Given the description of an element on the screen output the (x, y) to click on. 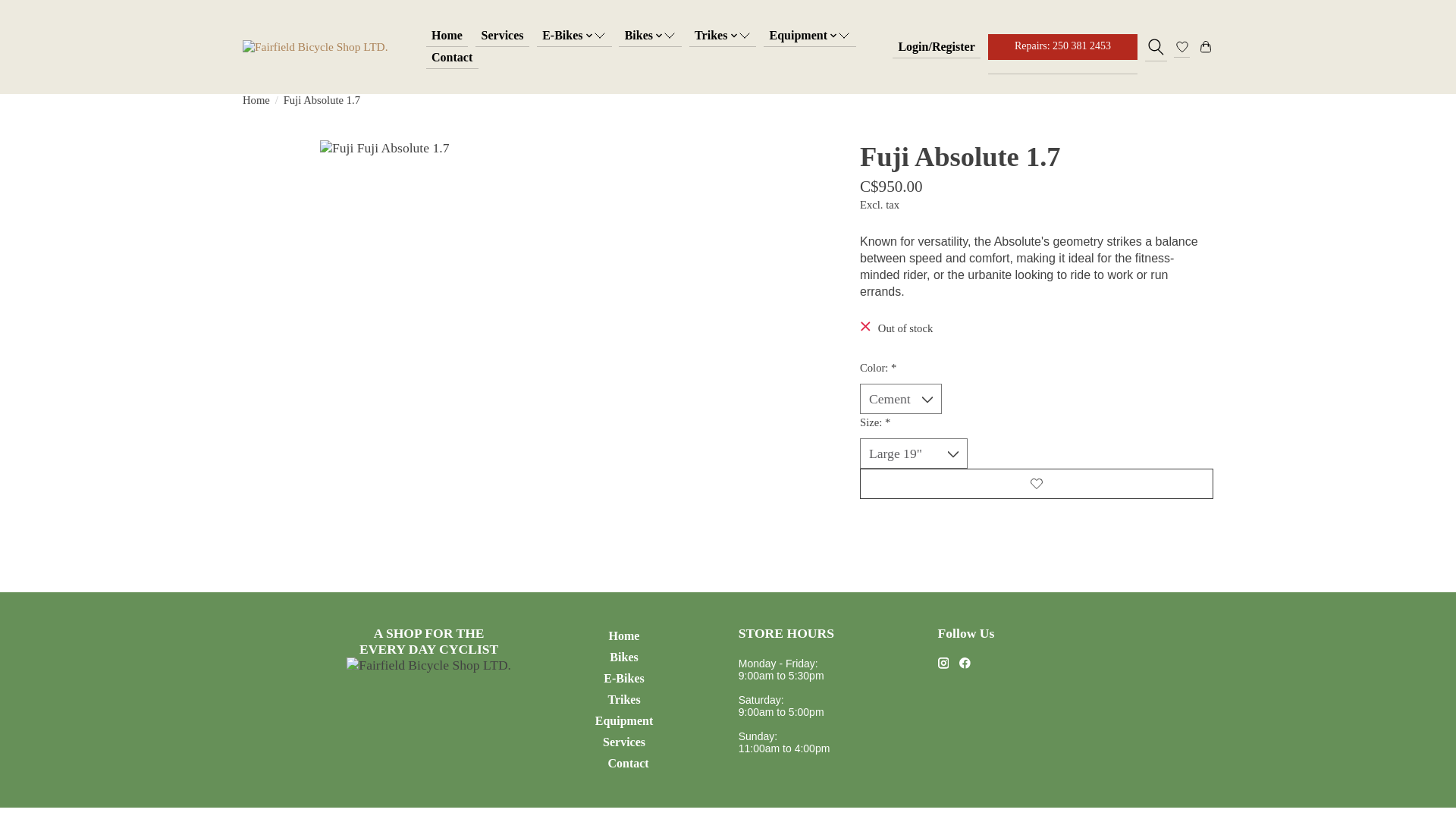
Equipment (809, 35)
Home (447, 35)
Trikes (722, 35)
Services (502, 35)
Fairfield Bicycle Shop LTD. (315, 46)
Bikes (649, 35)
E-Bikes (574, 35)
